Given the description of an element on the screen output the (x, y) to click on. 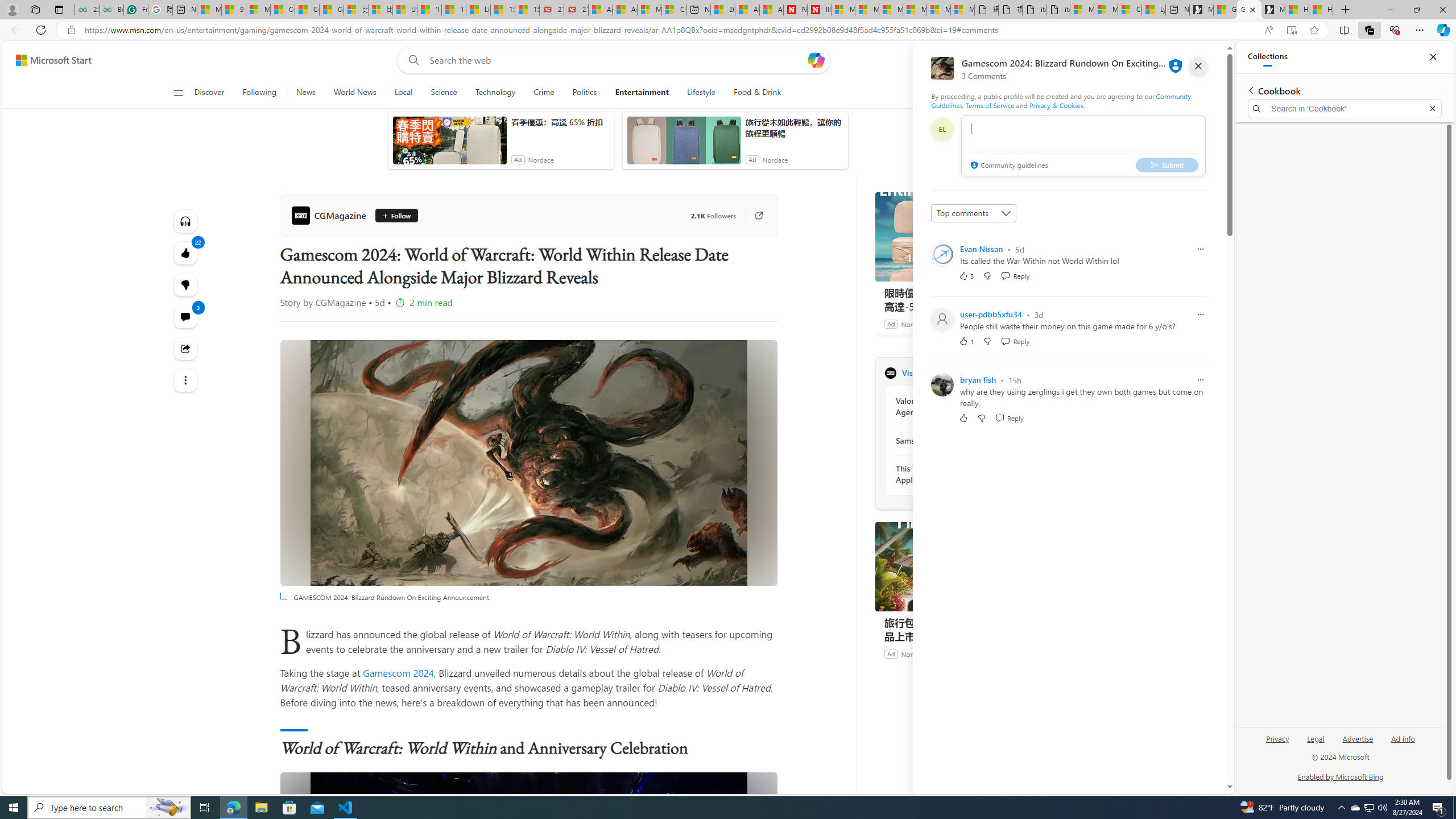
comment-box (1082, 145)
Community Guidelines (1060, 100)
Search in 'Cookbook' (1345, 108)
itconcepthk.com/projector_solutions.mp4 (1057, 9)
CGMagazine (889, 372)
